Given the description of an element on the screen output the (x, y) to click on. 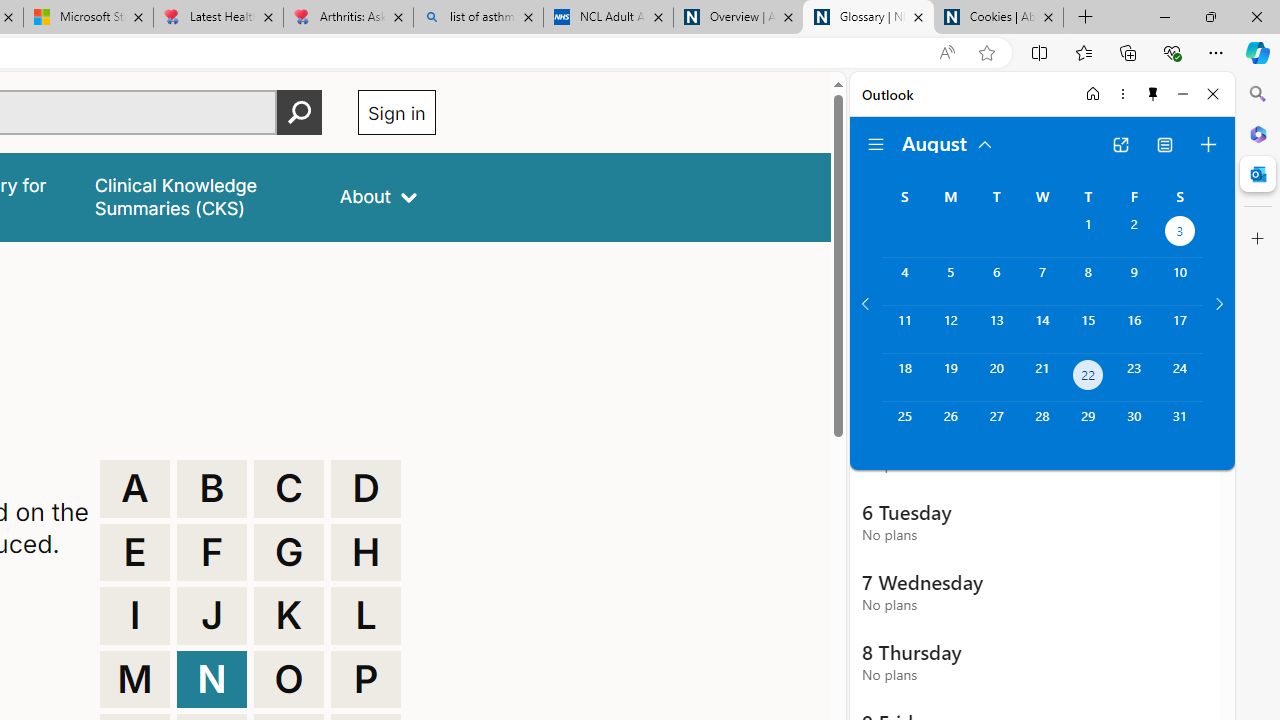
Wednesday, August 28, 2024.  (1042, 425)
L (365, 615)
D (365, 488)
O (289, 679)
Open in new tab (1120, 144)
Sunday, August 4, 2024.  (904, 281)
Close (1213, 93)
E (134, 551)
E (134, 551)
Add this page to favorites (Ctrl+D) (986, 53)
August (948, 141)
Create event (1208, 144)
K (289, 615)
